Given the description of an element on the screen output the (x, y) to click on. 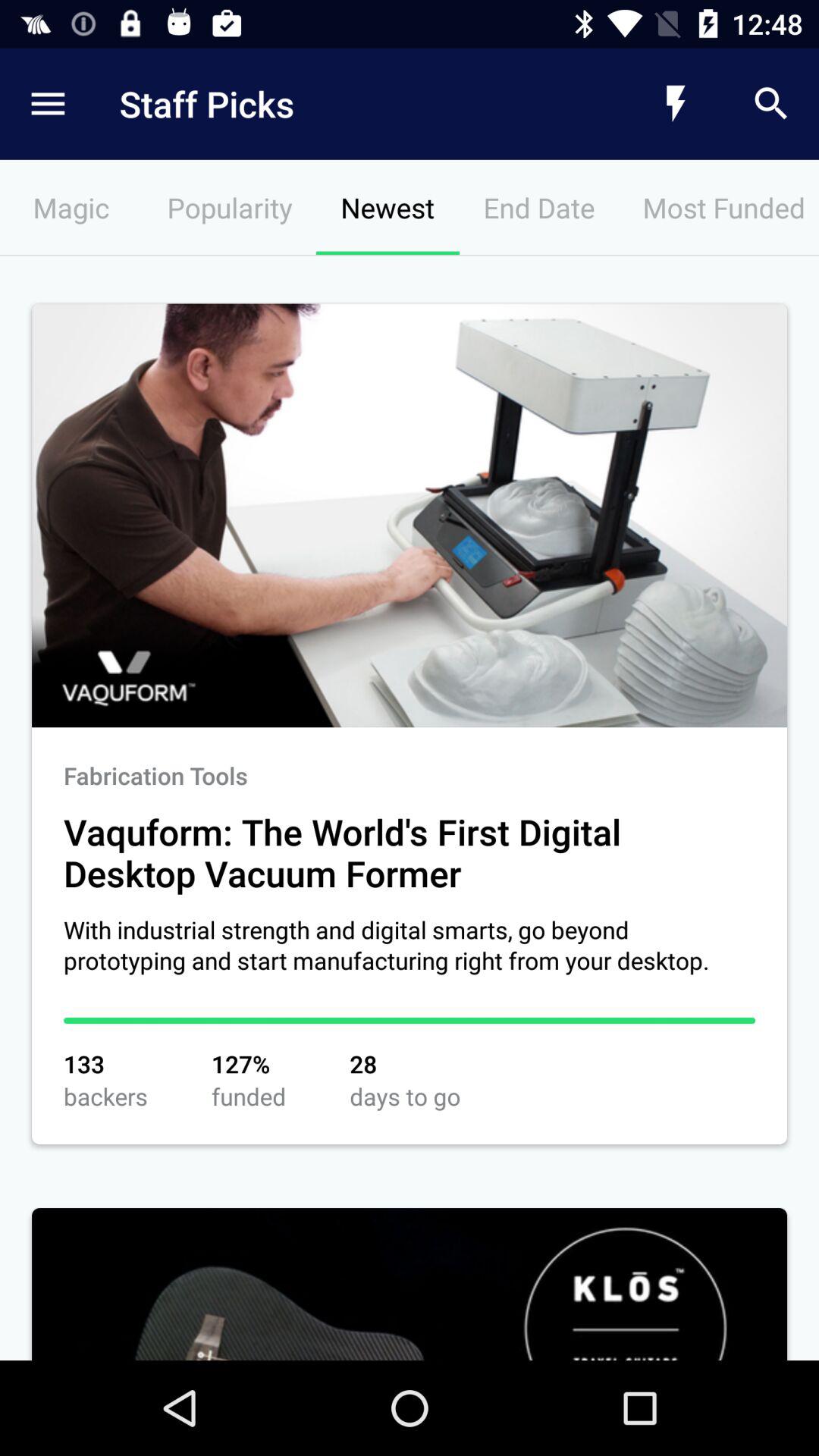
press the item next to the staff picks (675, 103)
